Given the description of an element on the screen output the (x, y) to click on. 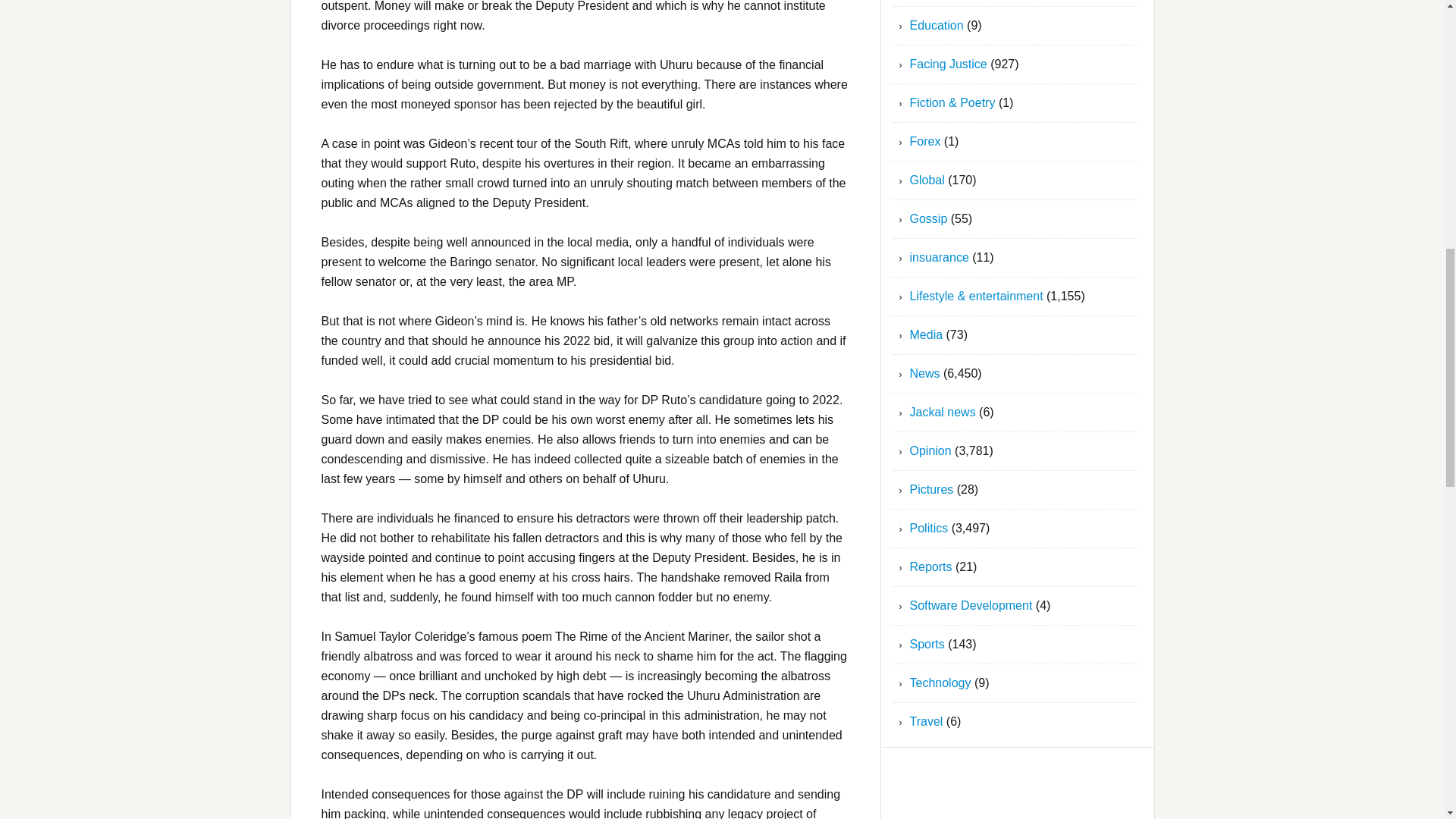
insuarance (939, 256)
Pictures (931, 489)
Gossip (928, 218)
News (925, 373)
Education (936, 24)
Jackal news (942, 411)
Global (927, 179)
Opinion (931, 450)
Media (926, 334)
Facing Justice (948, 63)
Forex (925, 141)
